Given the description of an element on the screen output the (x, y) to click on. 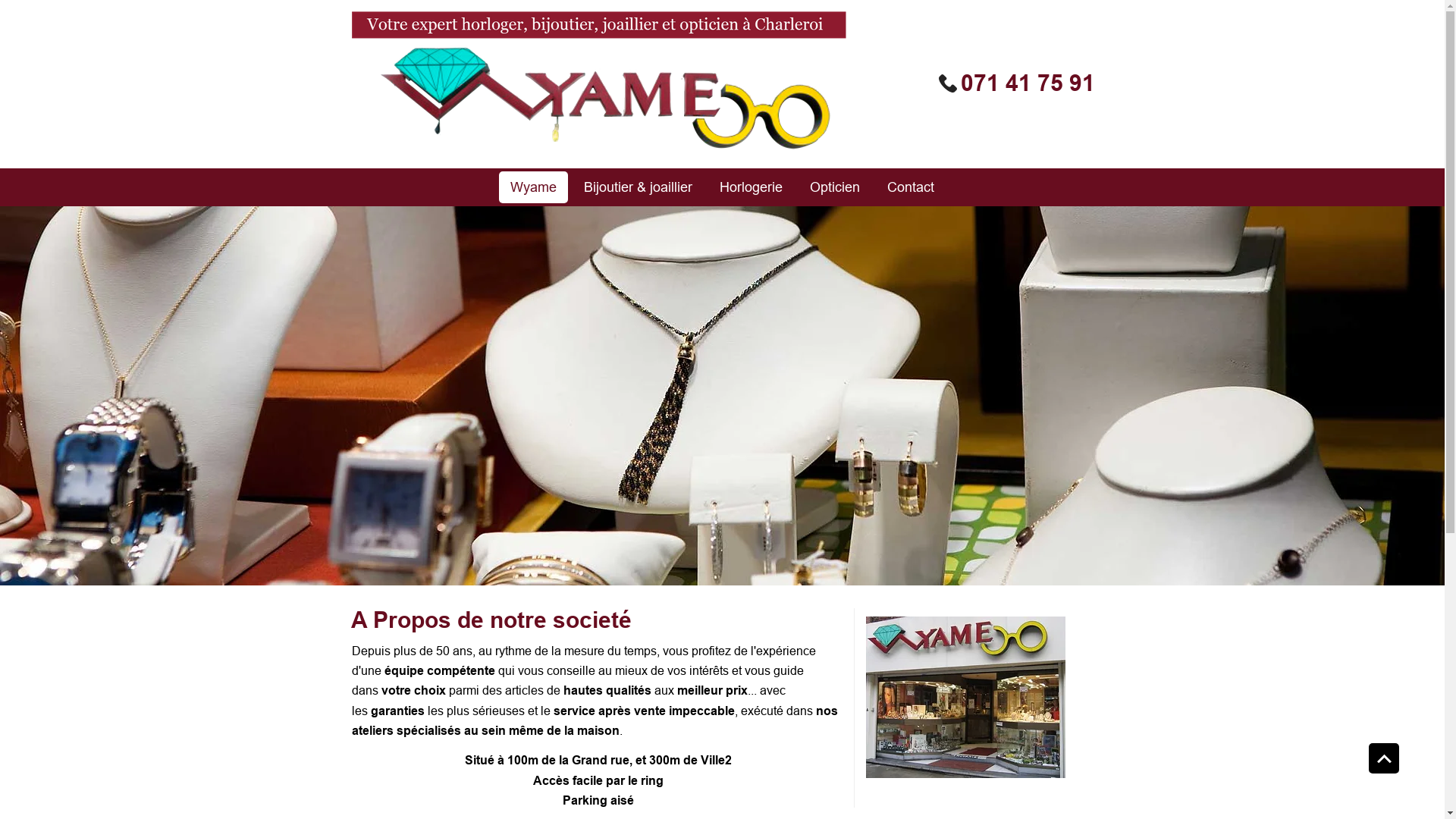
Horlogerie Element type: text (750, 187)
Opticien Element type: text (834, 187)
Wyame Element type: text (532, 187)
071 41 75 91 Element type: text (1027, 82)
Bijoutier & joaillier Element type: text (637, 187)
Contact Element type: text (910, 187)
